Given the description of an element on the screen output the (x, y) to click on. 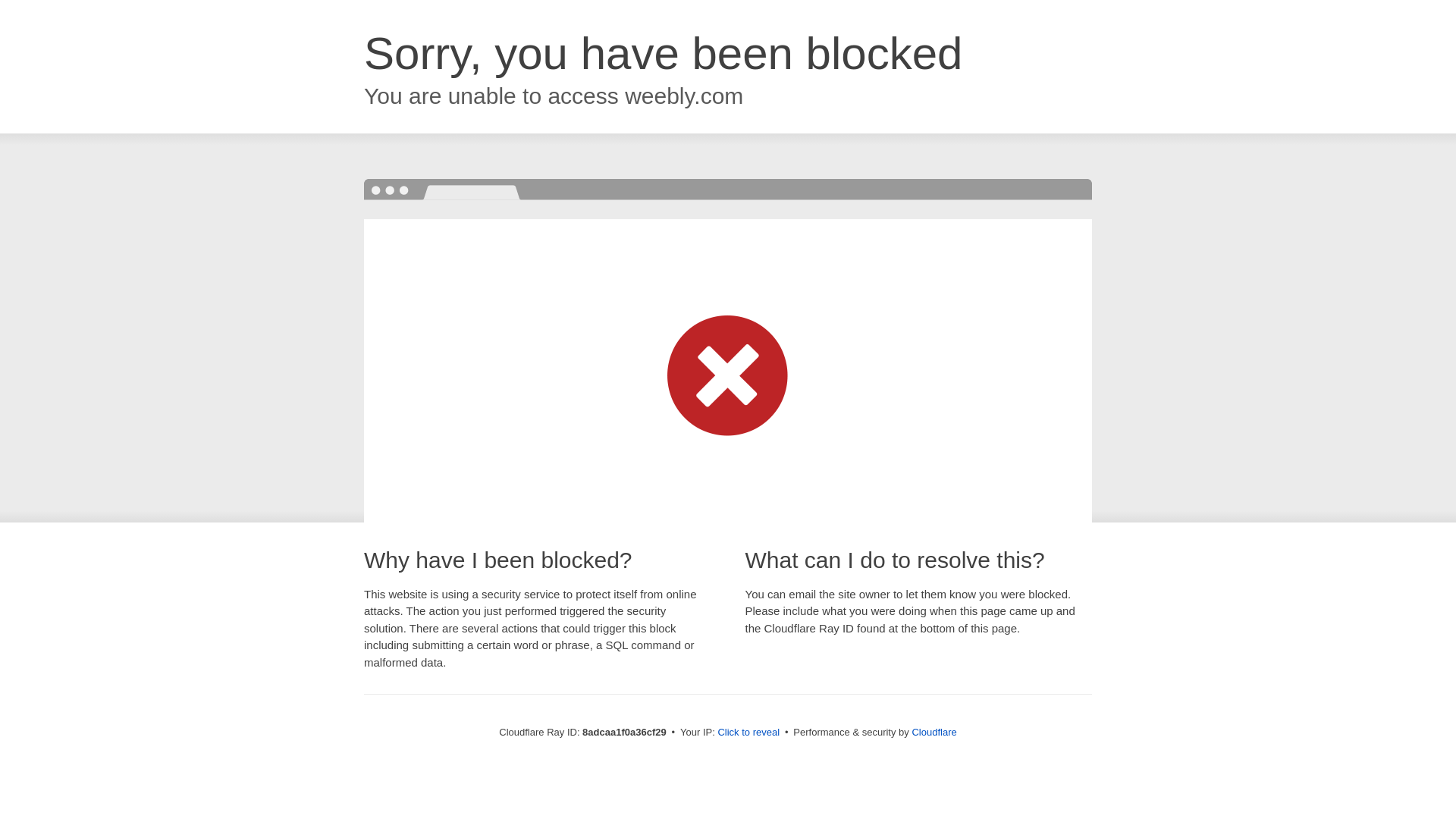
Cloudflare (933, 731)
Click to reveal (747, 732)
